Given the description of an element on the screen output the (x, y) to click on. 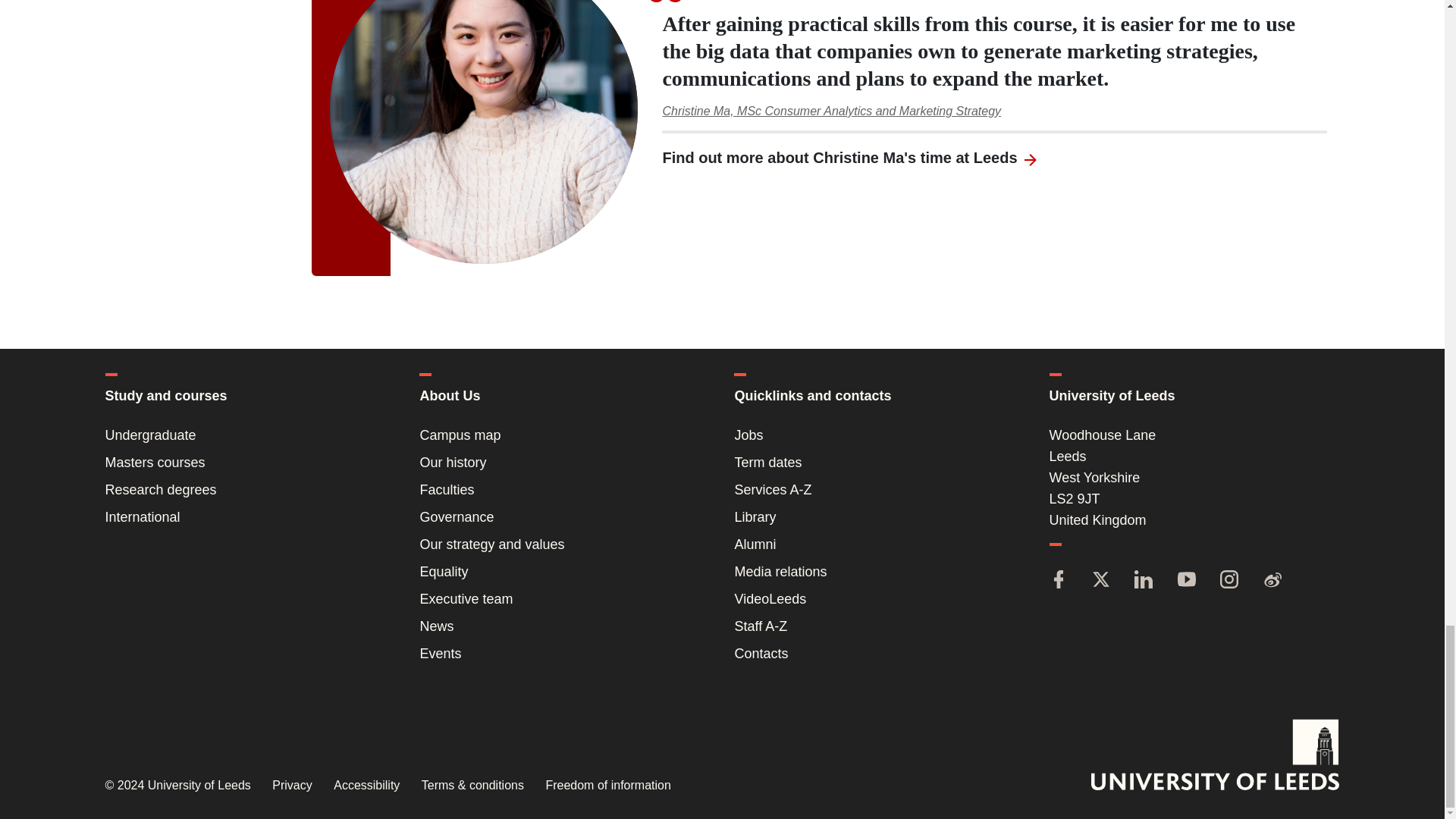
Go to Freedom of information page (606, 784)
Go to Privacy page (291, 784)
Go to Accessibility page (365, 784)
